Given the description of an element on the screen output the (x, y) to click on. 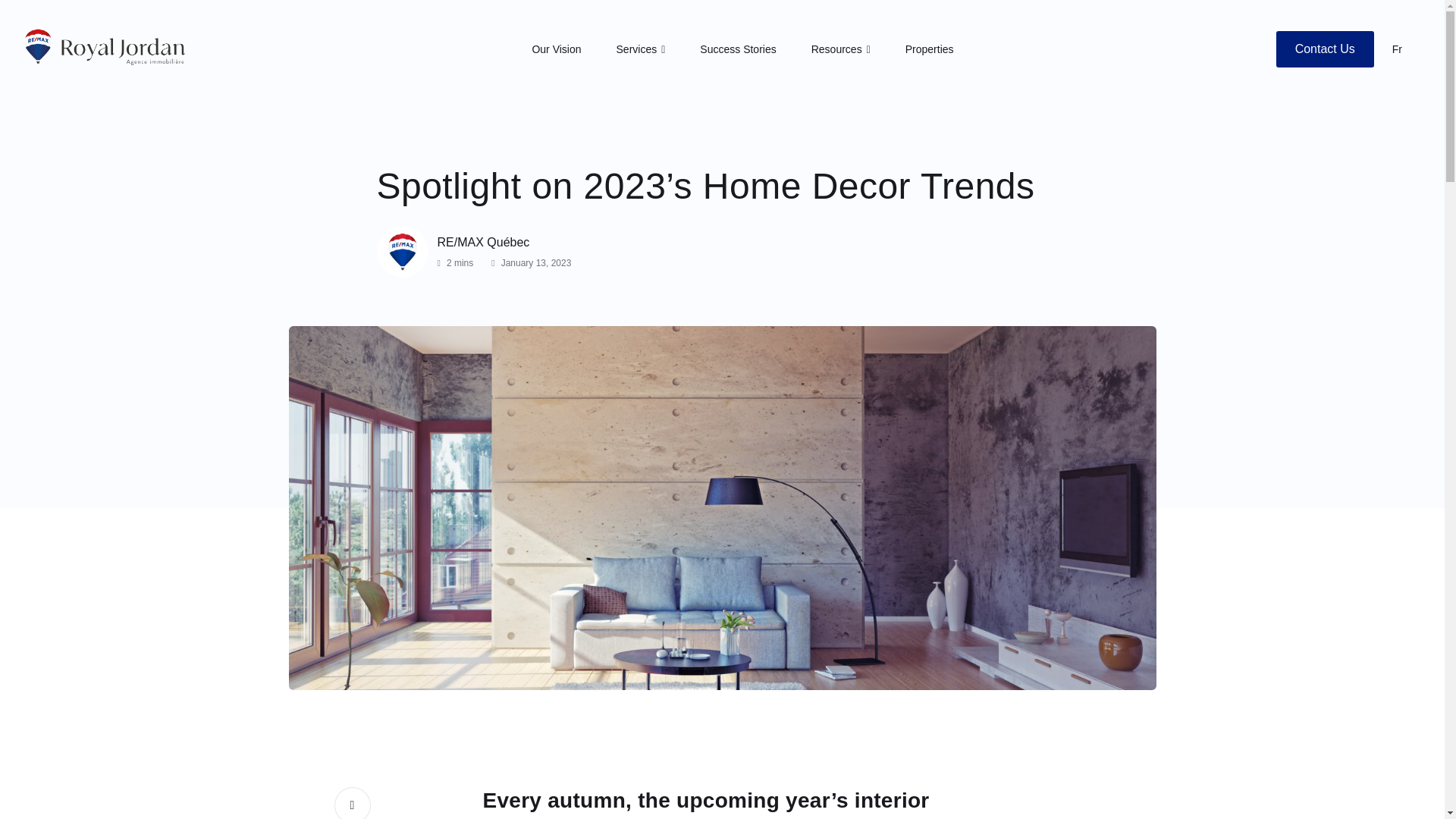
Success Stories (738, 49)
Our Vision (555, 49)
Fr (1396, 48)
Contact Us (1325, 49)
Properties (929, 49)
